Given the description of an element on the screen output the (x, y) to click on. 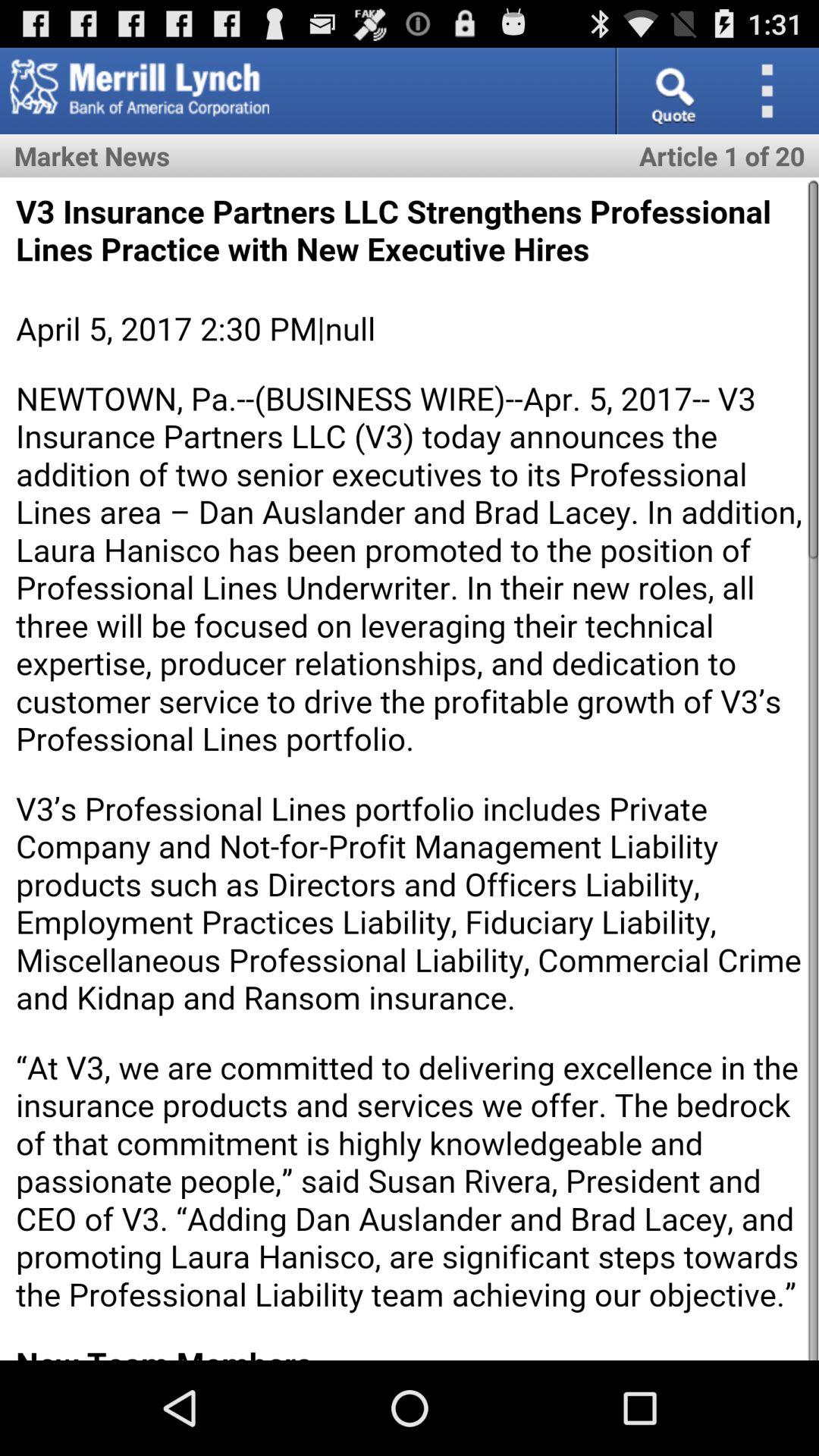
toggle quote (671, 90)
